Given the description of an element on the screen output the (x, y) to click on. 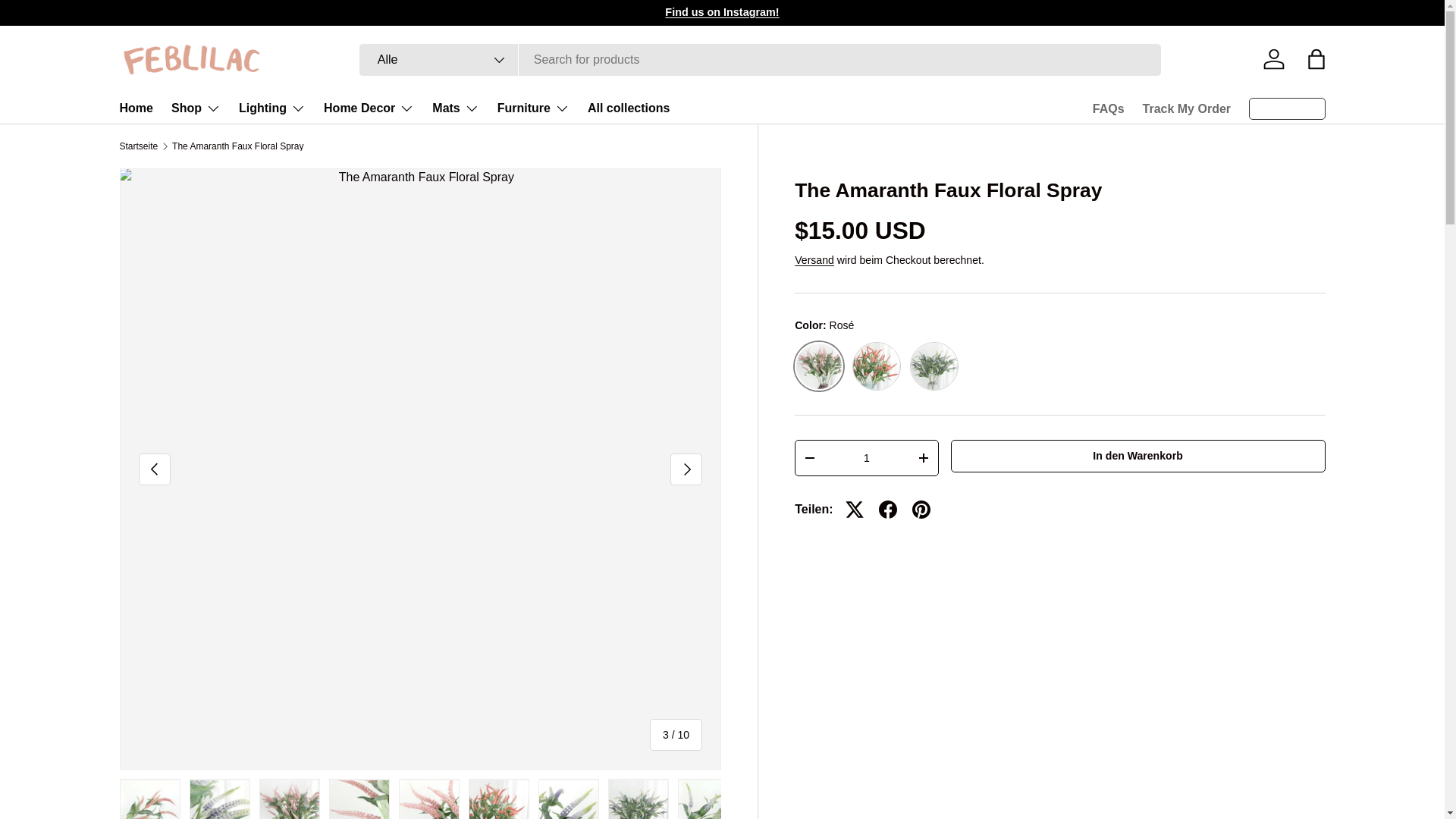
Einloggen (1273, 59)
Auf Facebook teilen (887, 509)
Einkaufstasche (1316, 59)
Home (135, 107)
Find us on Instagram! (721, 11)
Direkt zum Inhalt (68, 21)
Shop (196, 108)
1 (866, 458)
Auf Twitter twittern (854, 509)
